Given the description of an element on the screen output the (x, y) to click on. 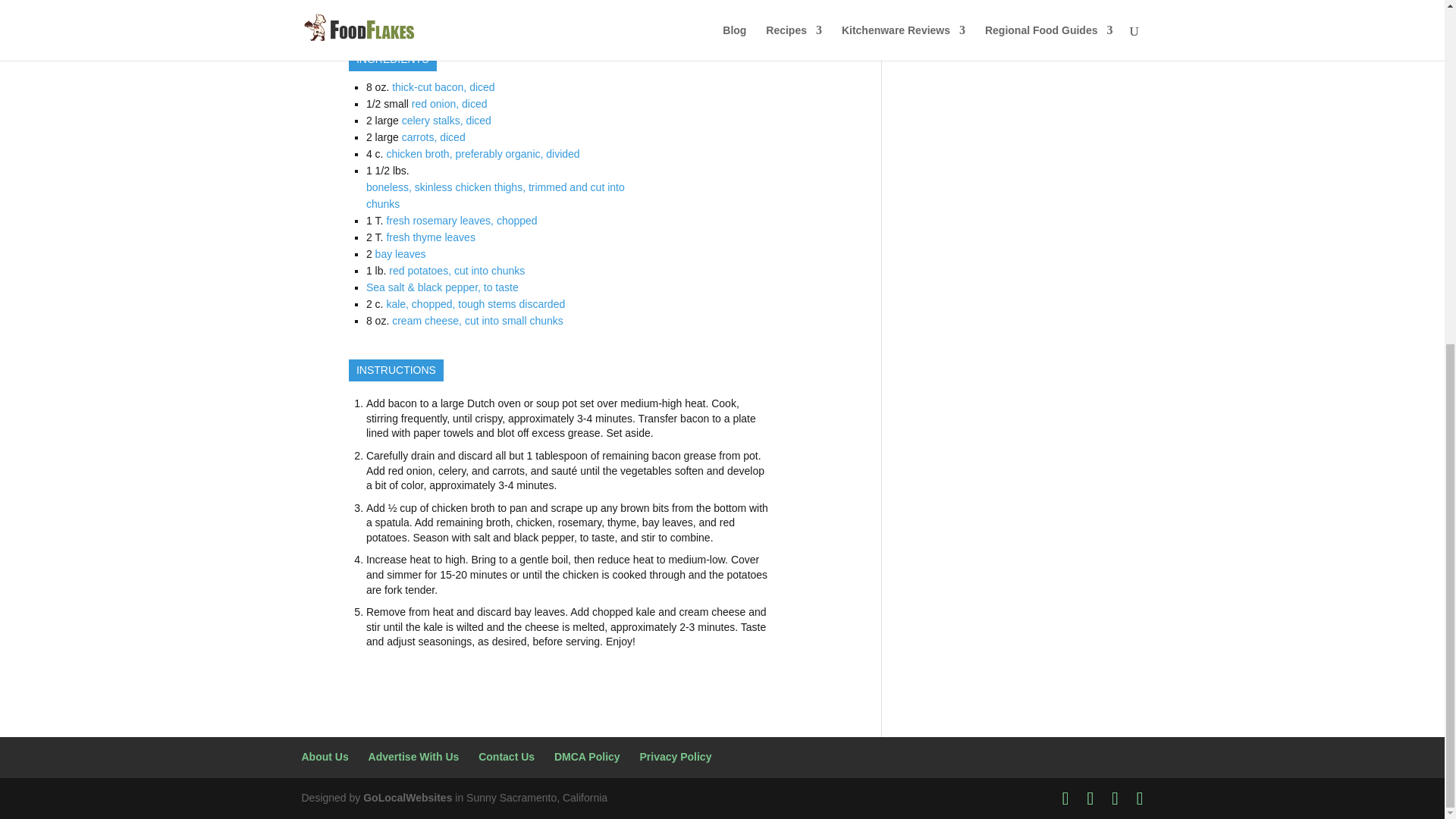
thick-cut bacon, diced (443, 87)
celery stalks, diced (446, 120)
red onion, diced (449, 103)
carrots, diced (433, 137)
4 (515, 19)
